Given the description of an element on the screen output the (x, y) to click on. 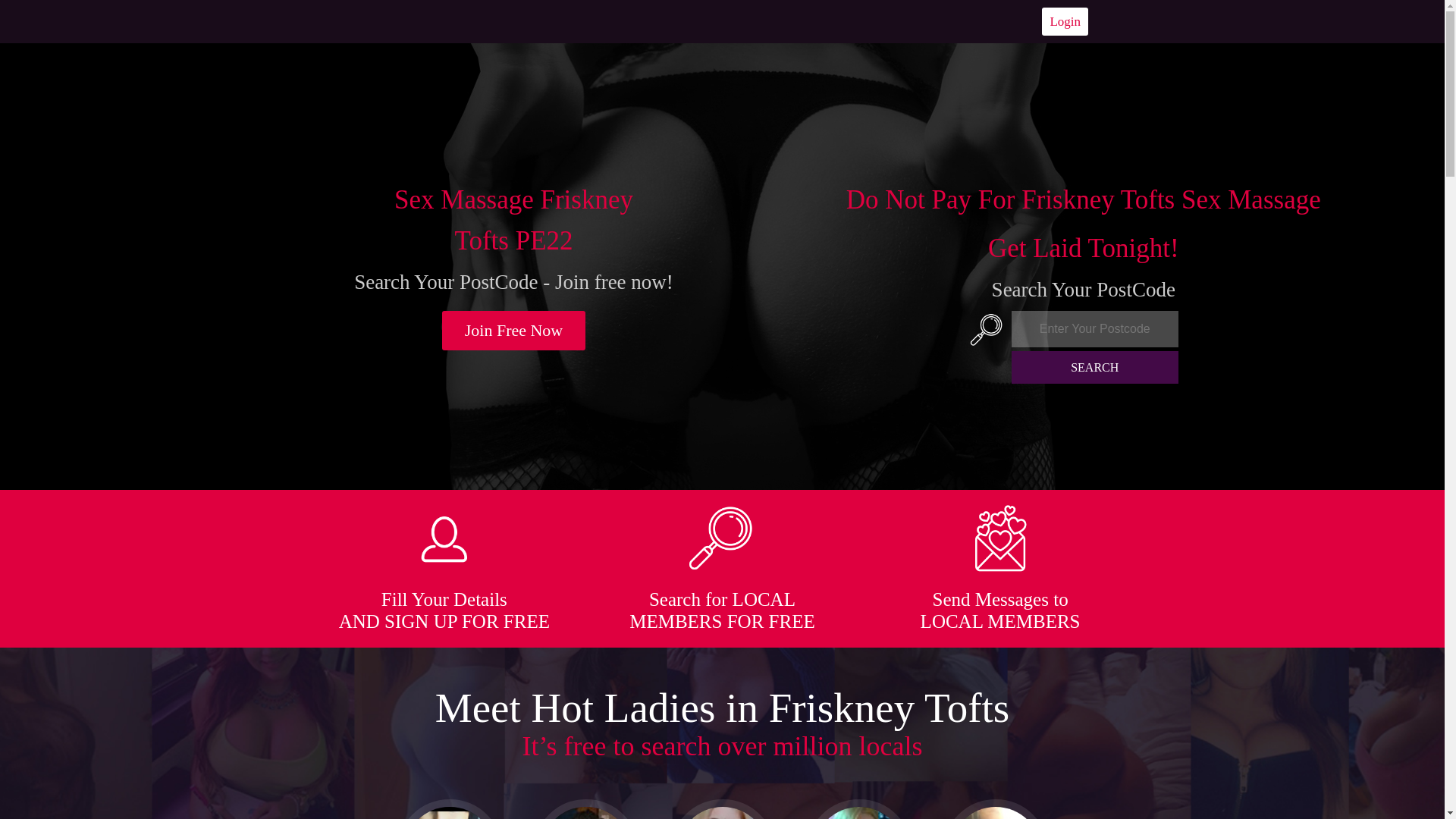
Join (514, 330)
Login (1064, 21)
SEARCH (1094, 367)
Login (1064, 21)
Join Free Now (514, 330)
